Given the description of an element on the screen output the (x, y) to click on. 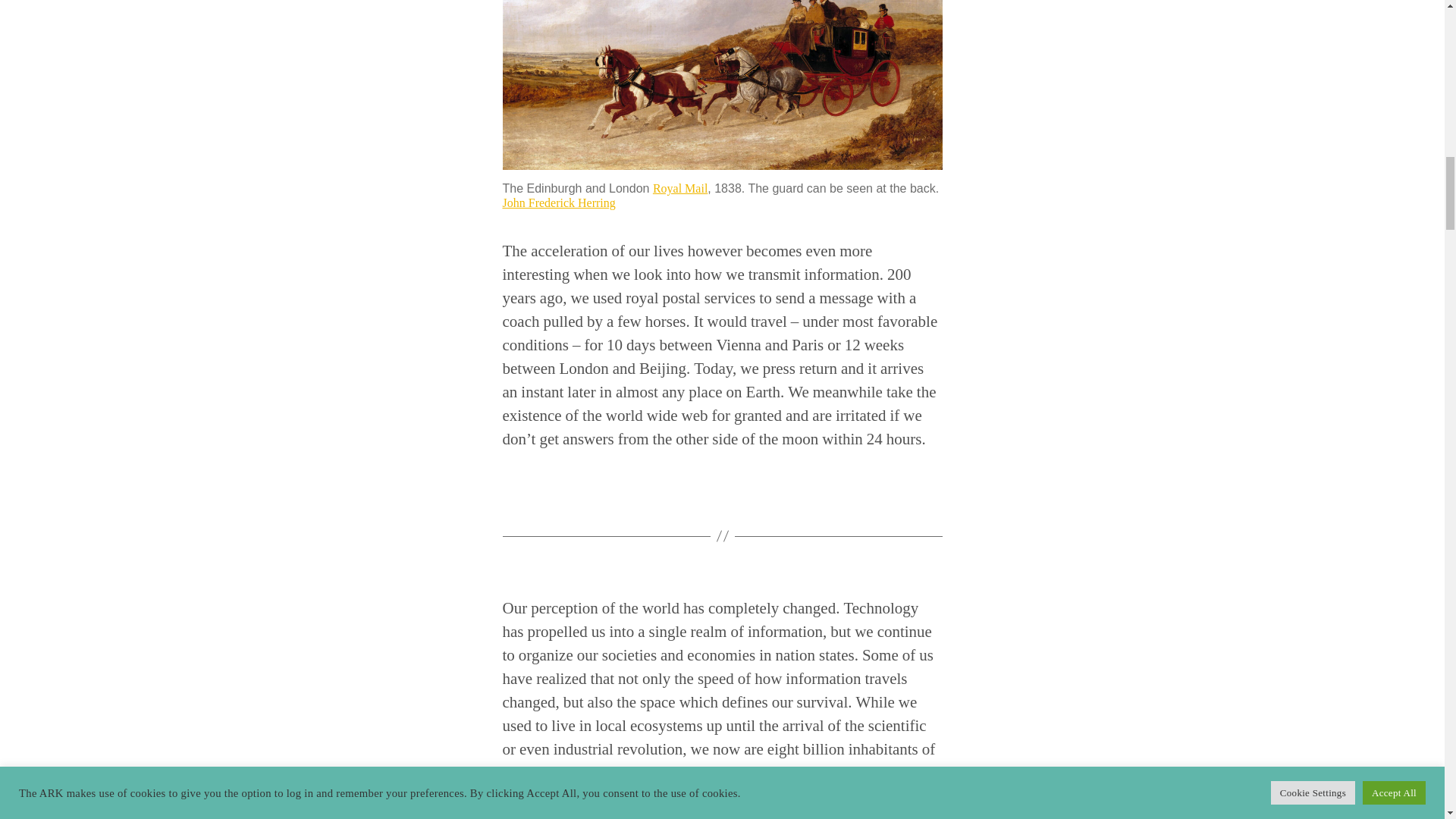
Royal Mail (679, 187)
John Frederick Herring (558, 202)
